Given the description of an element on the screen output the (x, y) to click on. 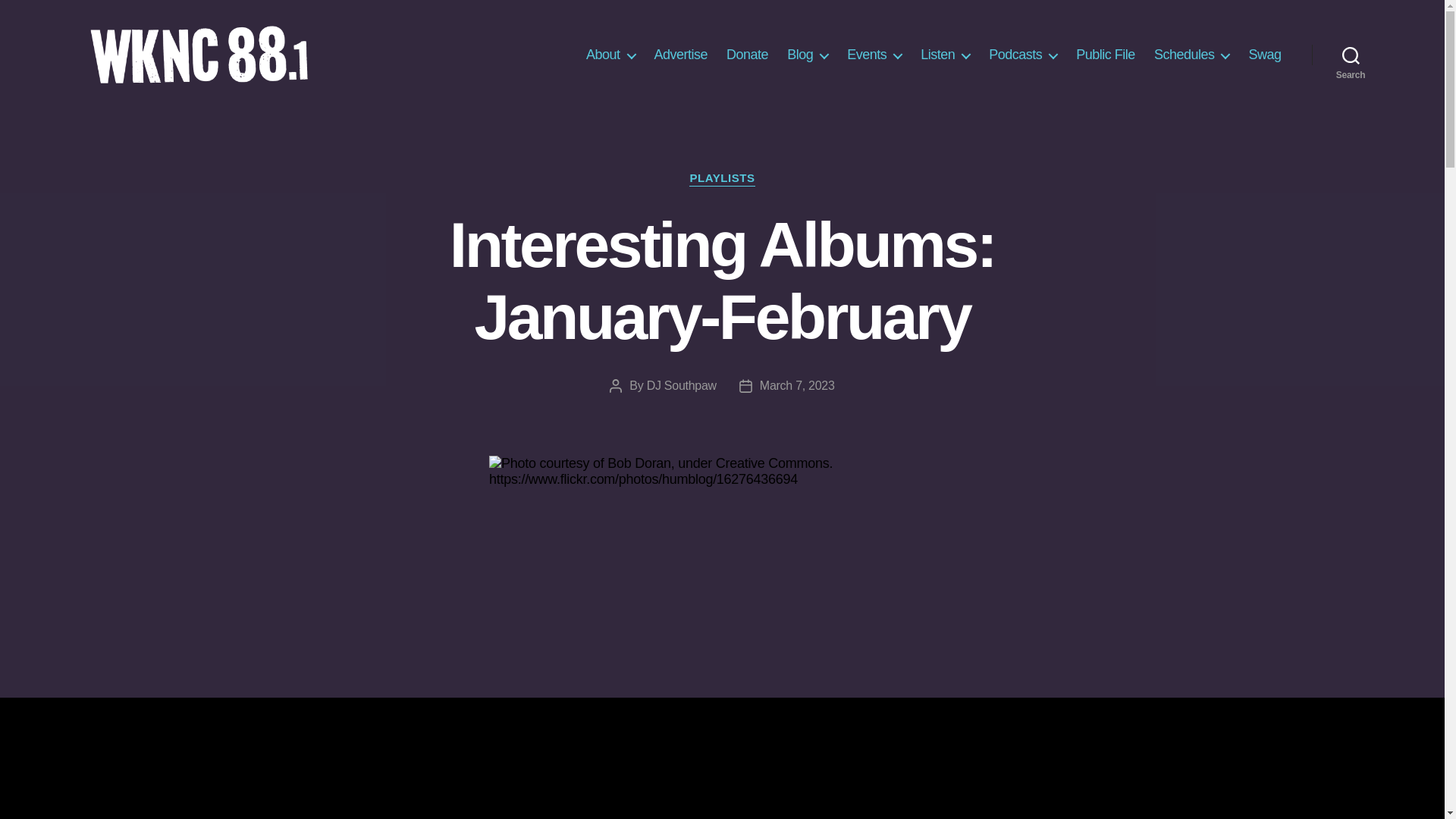
Advertise (680, 54)
Blog (807, 54)
Donate (747, 54)
About (610, 54)
Listen (944, 54)
Events (874, 54)
